Given the description of an element on the screen output the (x, y) to click on. 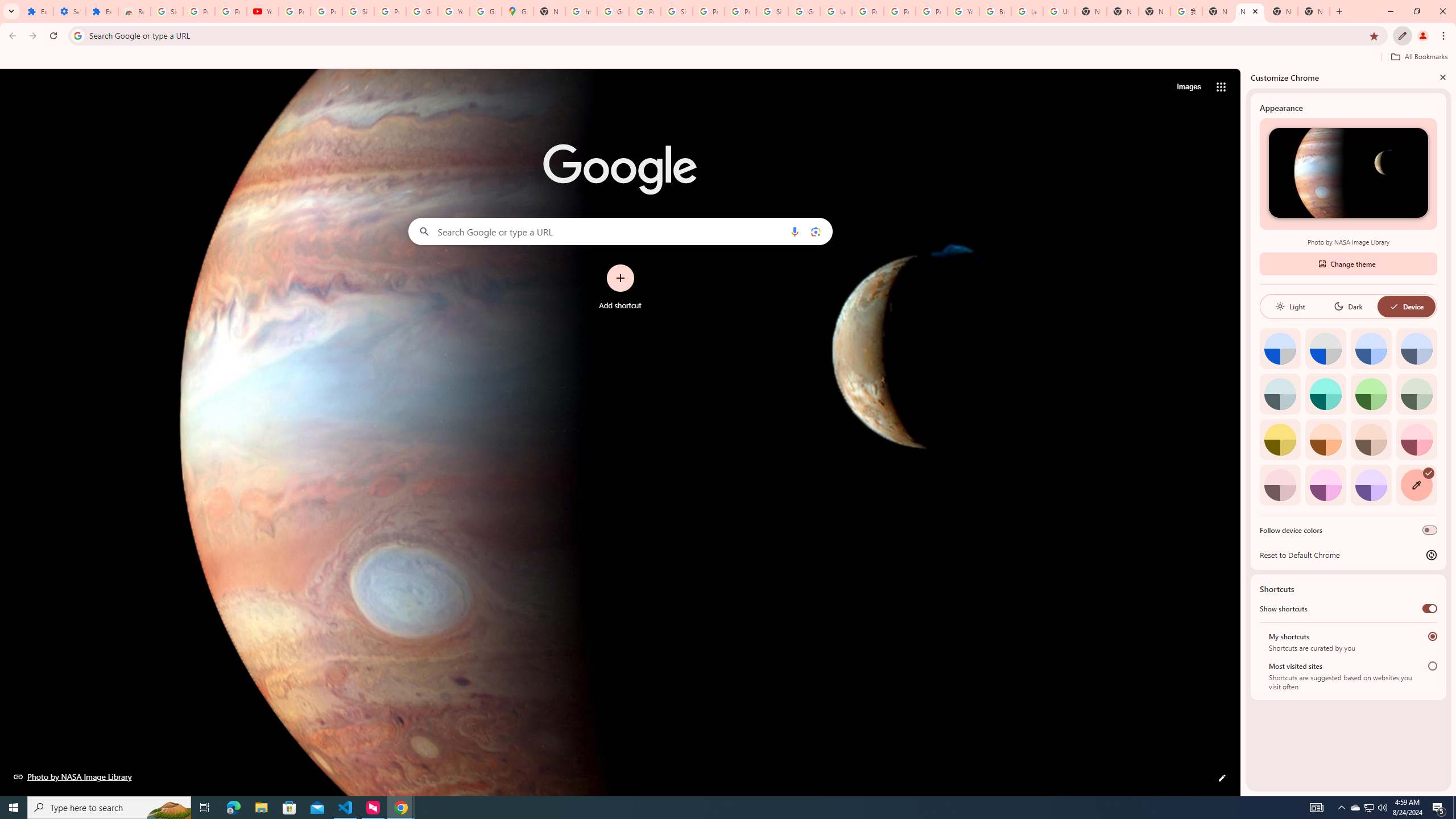
YouTube (963, 11)
Orange (1325, 439)
AutomationID: svg (1428, 472)
Privacy Help Center - Policies Help (899, 11)
Blue (1371, 348)
Light (1289, 305)
https://scholar.google.com/ (581, 11)
